Given the description of an element on the screen output the (x, y) to click on. 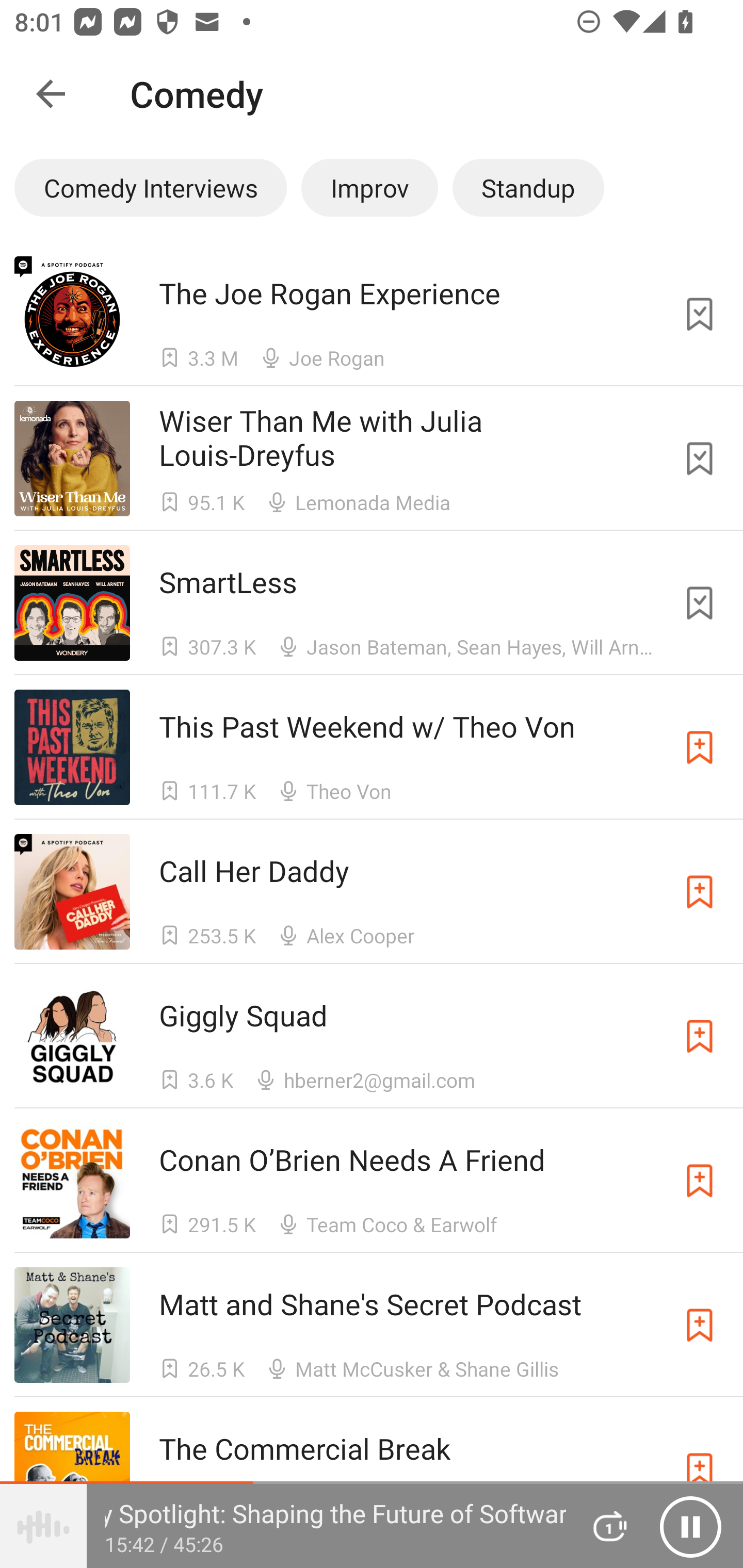
Navigate up (50, 93)
Comedy Interviews (150, 187)
Improv (369, 187)
Standup (528, 187)
Unsubscribe (699, 313)
Unsubscribe (699, 458)
Unsubscribe (699, 602)
Subscribe (699, 746)
Subscribe (699, 892)
Subscribe (699, 1036)
Subscribe (699, 1180)
Subscribe (699, 1324)
